Given the description of an element on the screen output the (x, y) to click on. 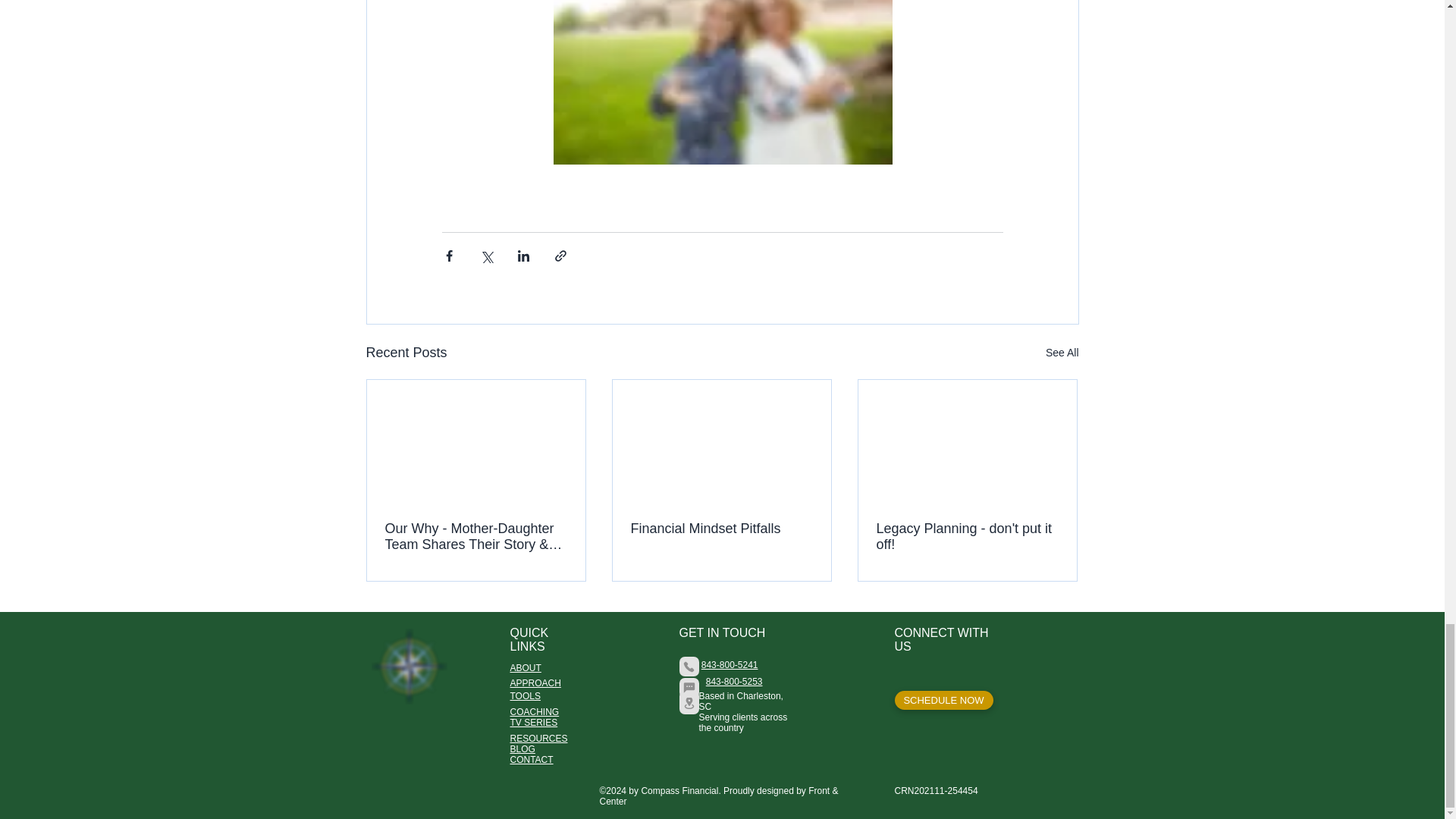
ABOUT (524, 667)
Legacy Planning - don't put it off! (967, 536)
Financial Mindset Pitfalls (721, 528)
See All (1061, 352)
